Given the description of an element on the screen output the (x, y) to click on. 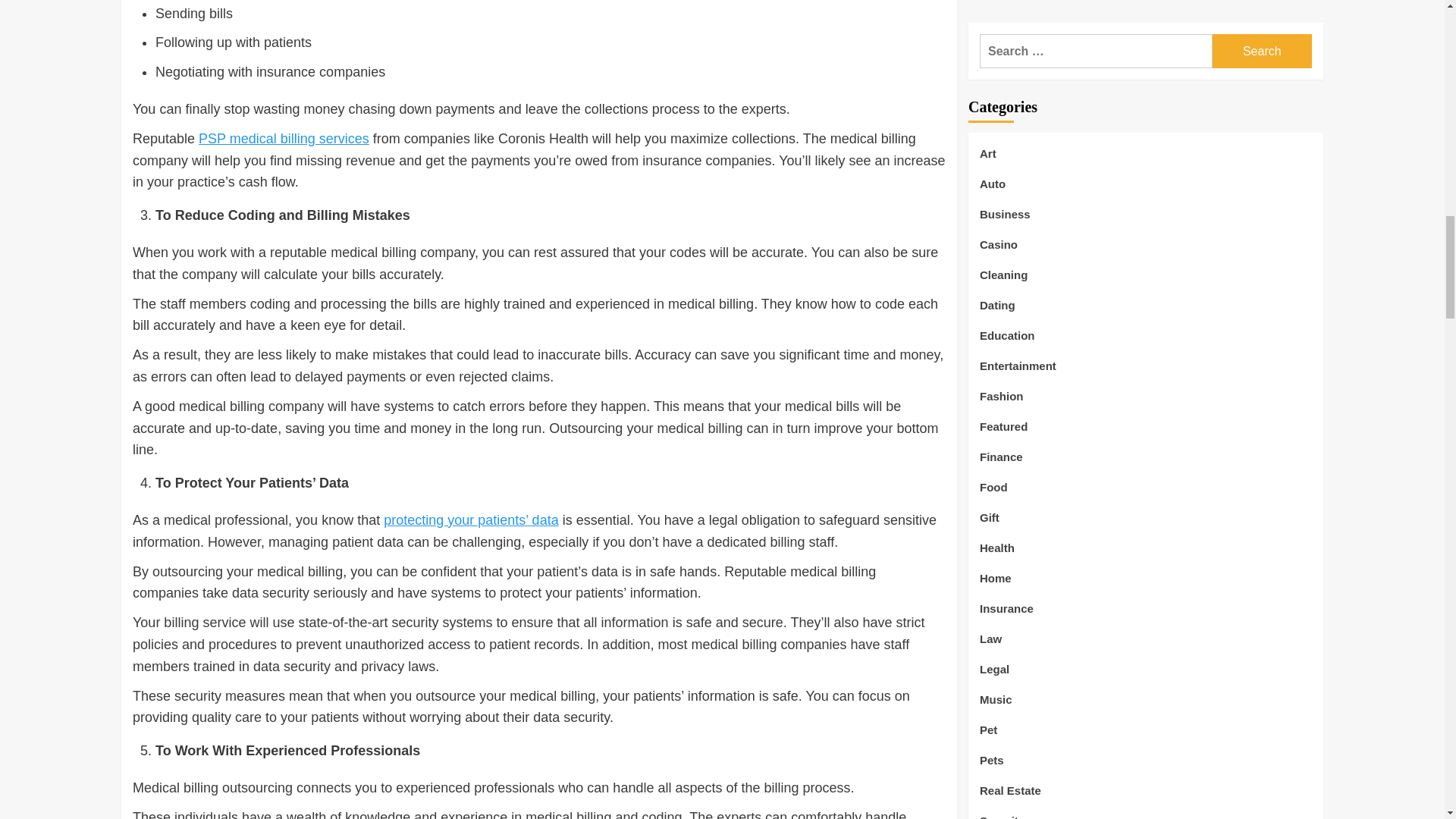
PSP medical billing services (283, 138)
